Given the description of an element on the screen output the (x, y) to click on. 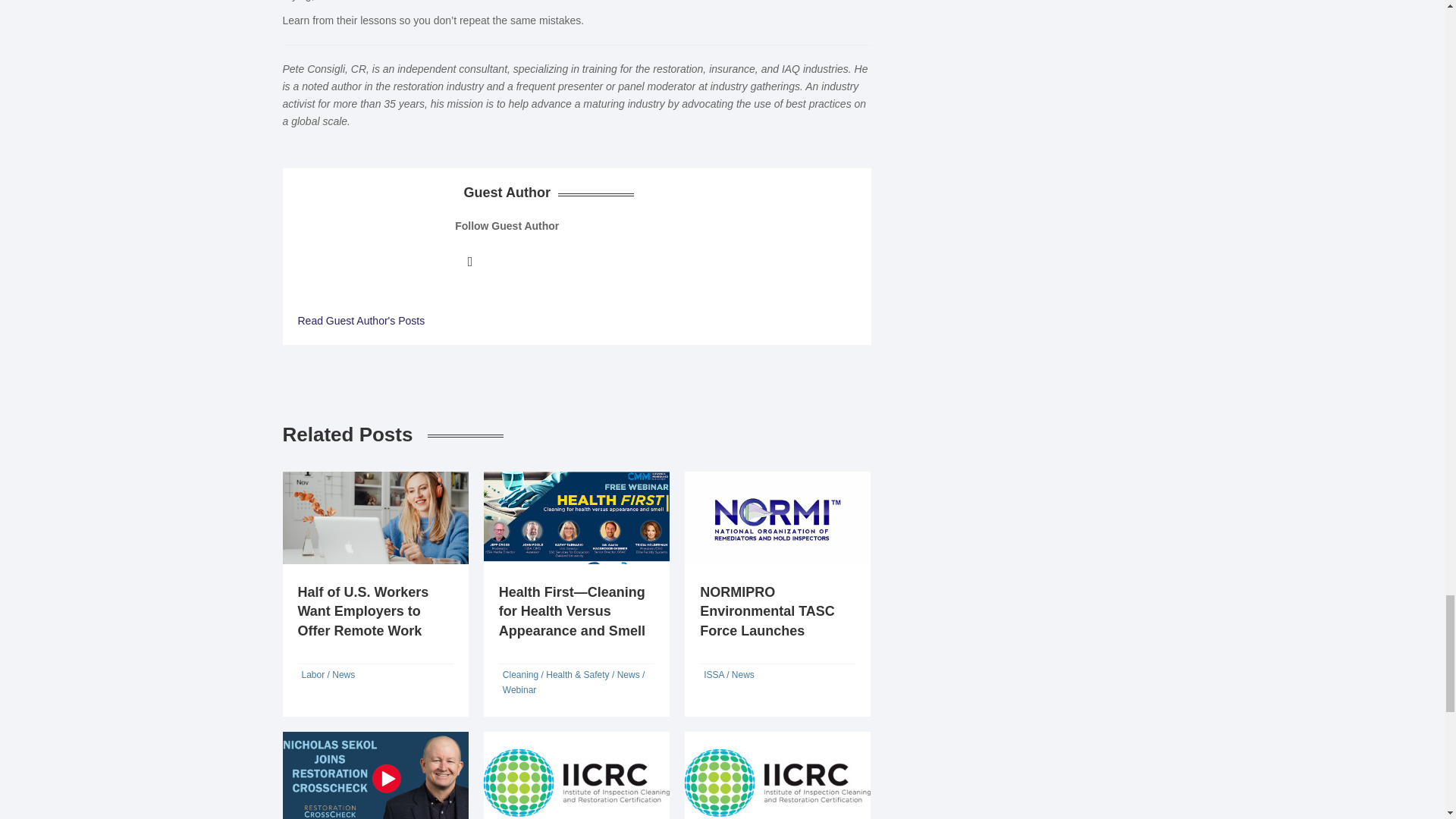
remote work (374, 518)
Read Guest Author's Posts (361, 321)
Half of U.S. Workers Want Employers to Offer Remote Work (362, 611)
normi logo tm (777, 518)
Health First Webinar-800 (576, 518)
Guest Author (361, 321)
